Given the description of an element on the screen output the (x, y) to click on. 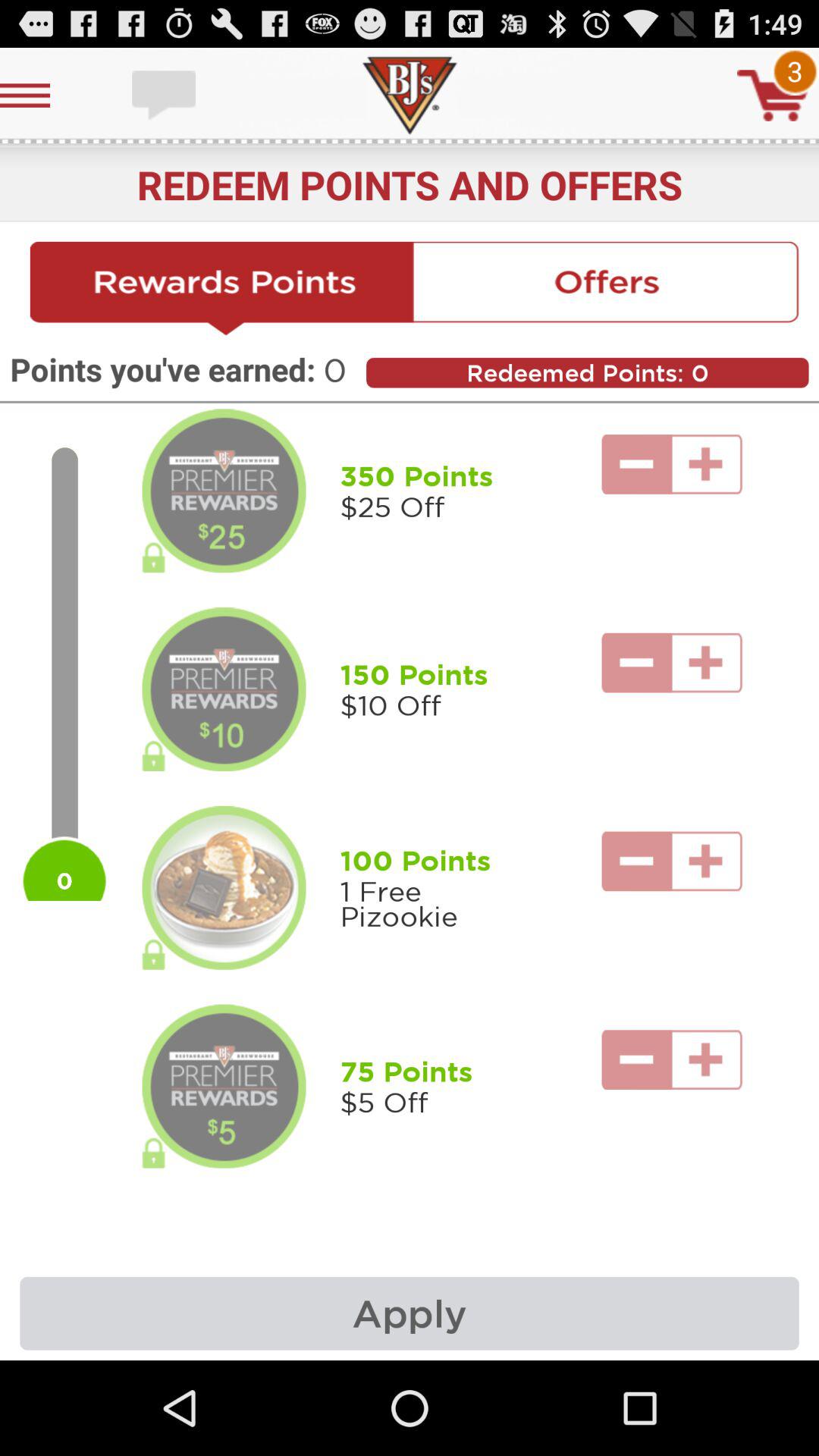
rounded image (223, 689)
